Given the description of an element on the screen output the (x, y) to click on. 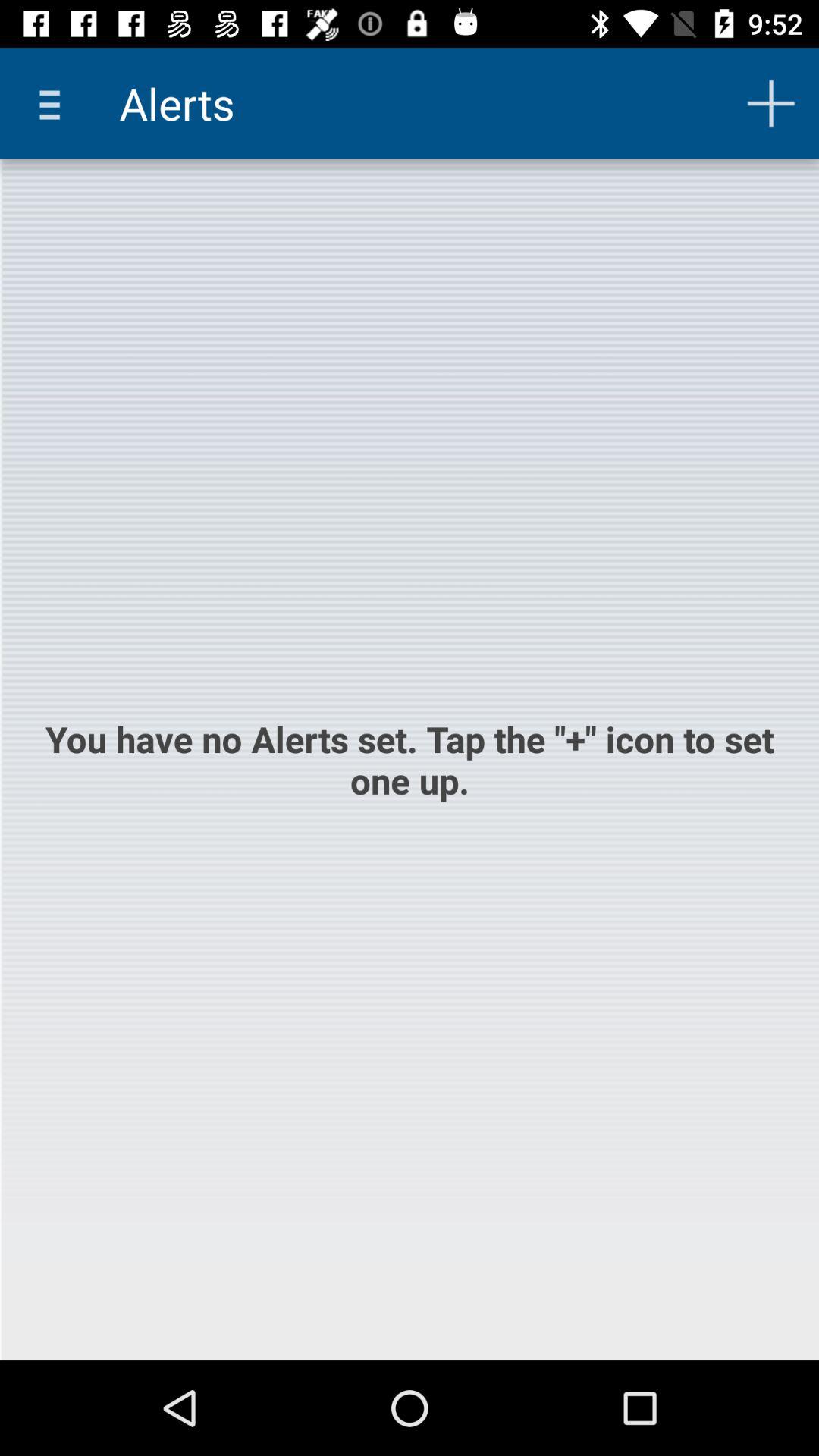
tap the icon above the you have no item (771, 103)
